Given the description of an element on the screen output the (x, y) to click on. 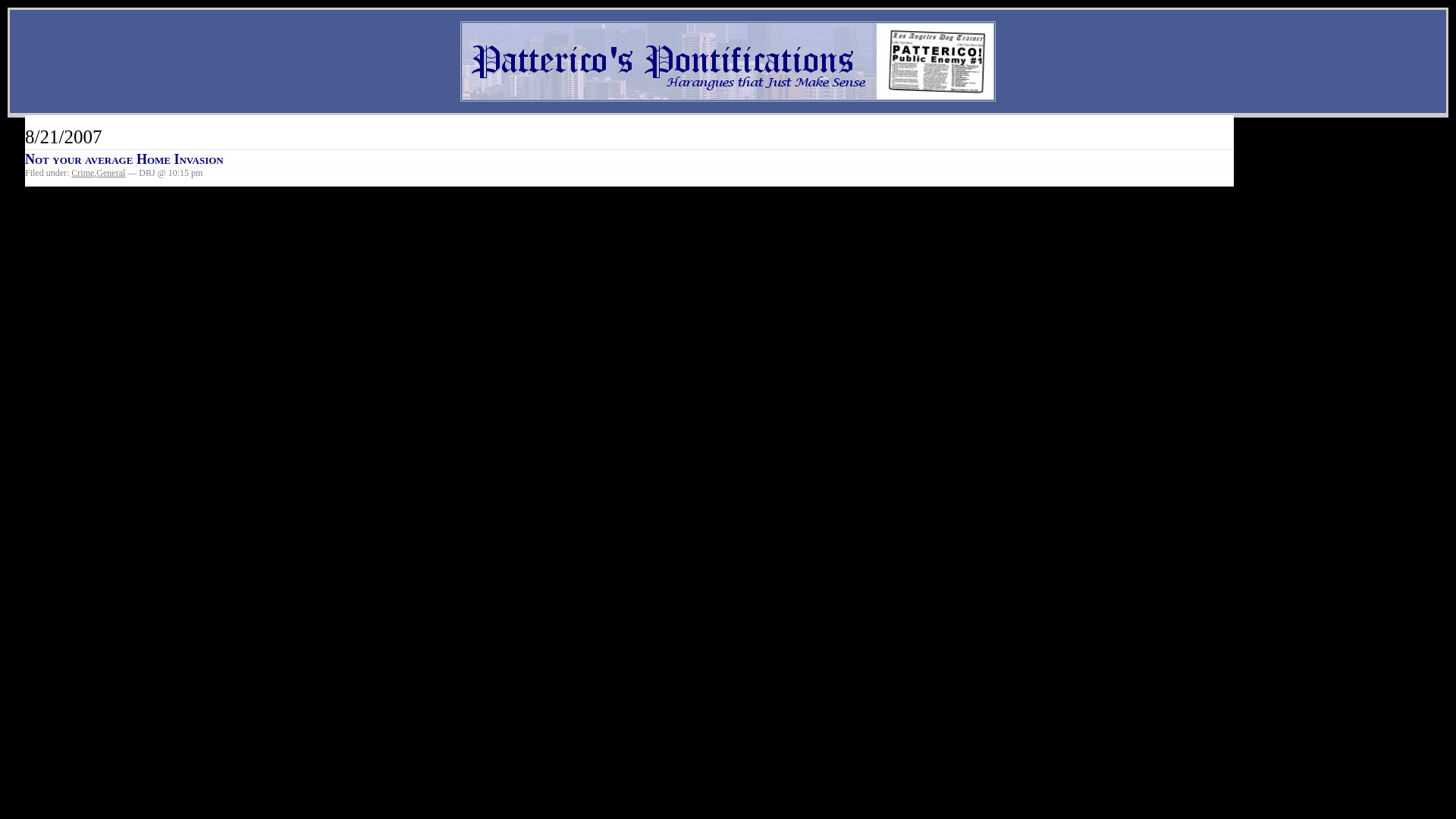
General (110, 172)
Not your average Home Invasion (124, 159)
Crime (82, 172)
Not your average Home Invasion (124, 159)
